Given the description of an element on the screen output the (x, y) to click on. 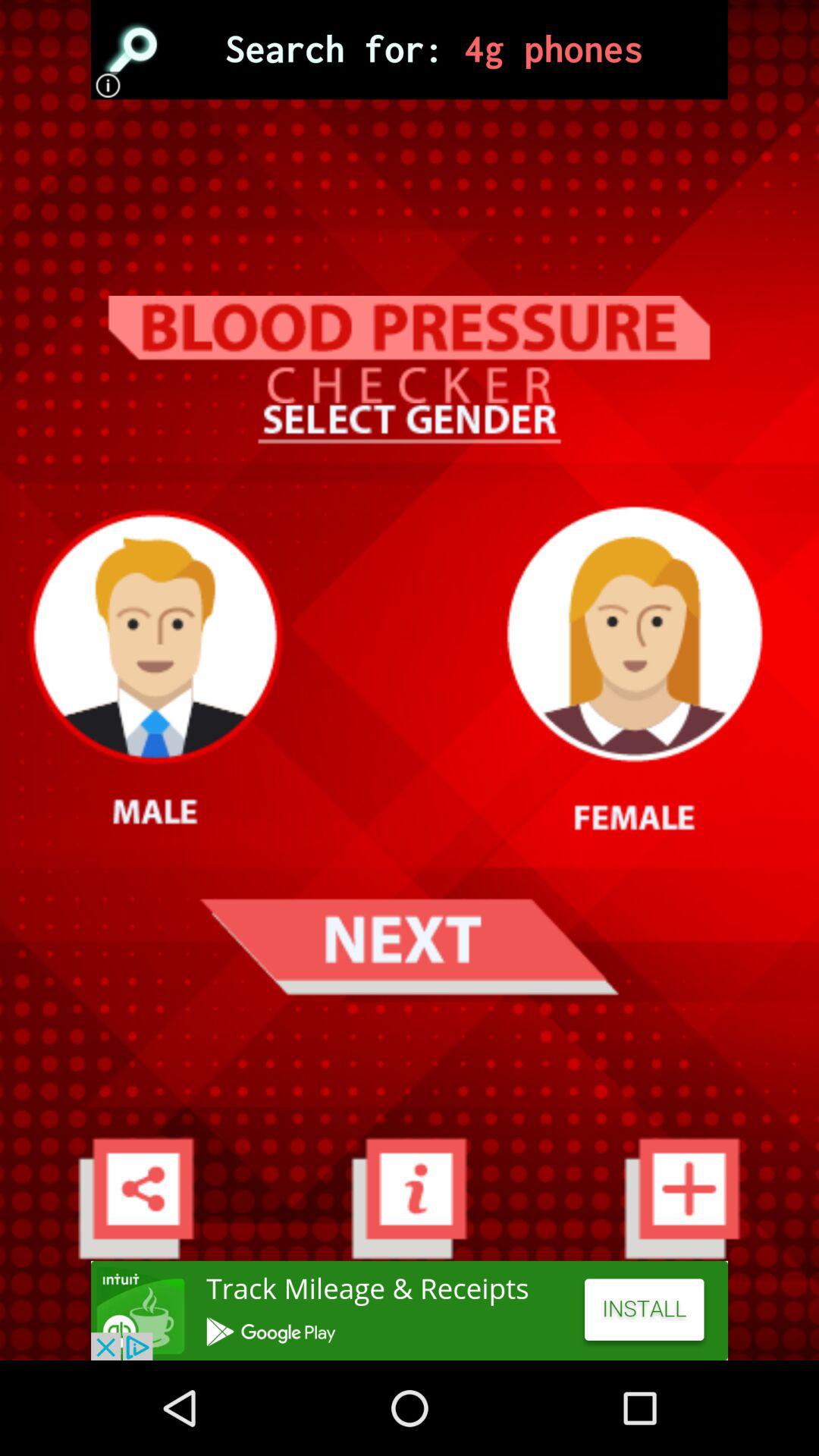
go to next page (409, 946)
